Given the description of an element on the screen output the (x, y) to click on. 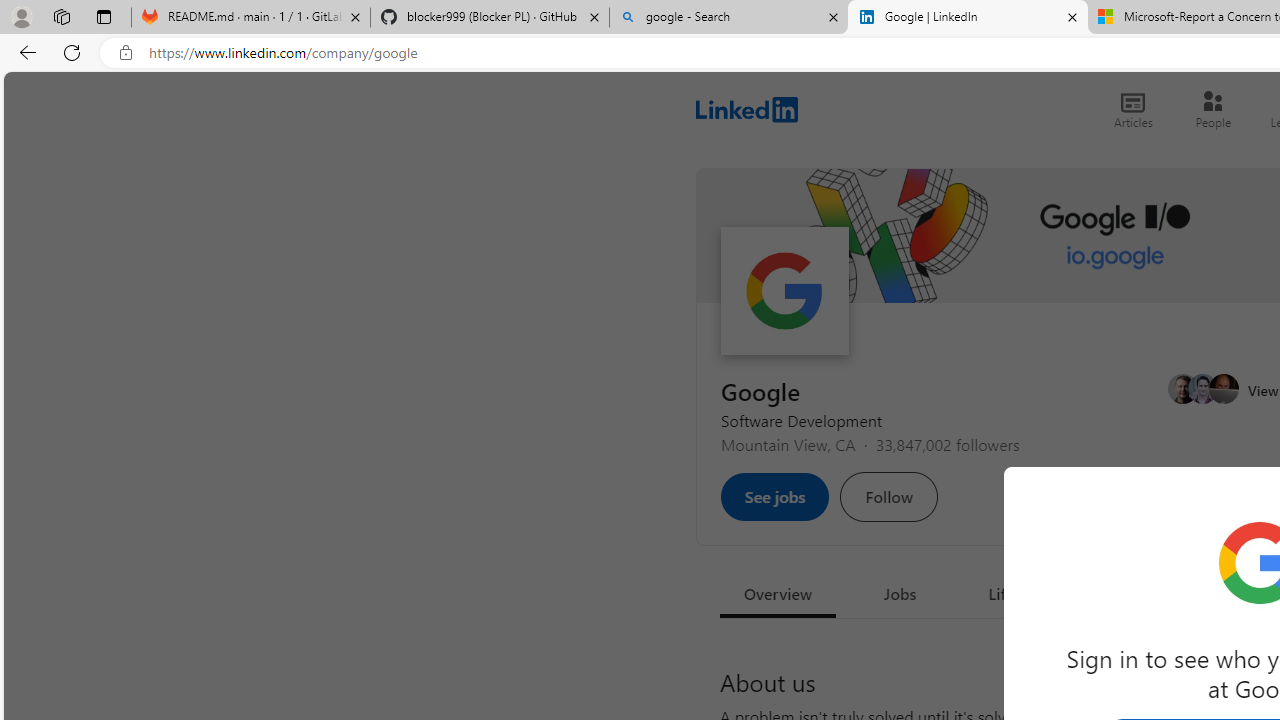
Google | LinkedIn (967, 17)
